Given the description of an element on the screen output the (x, y) to click on. 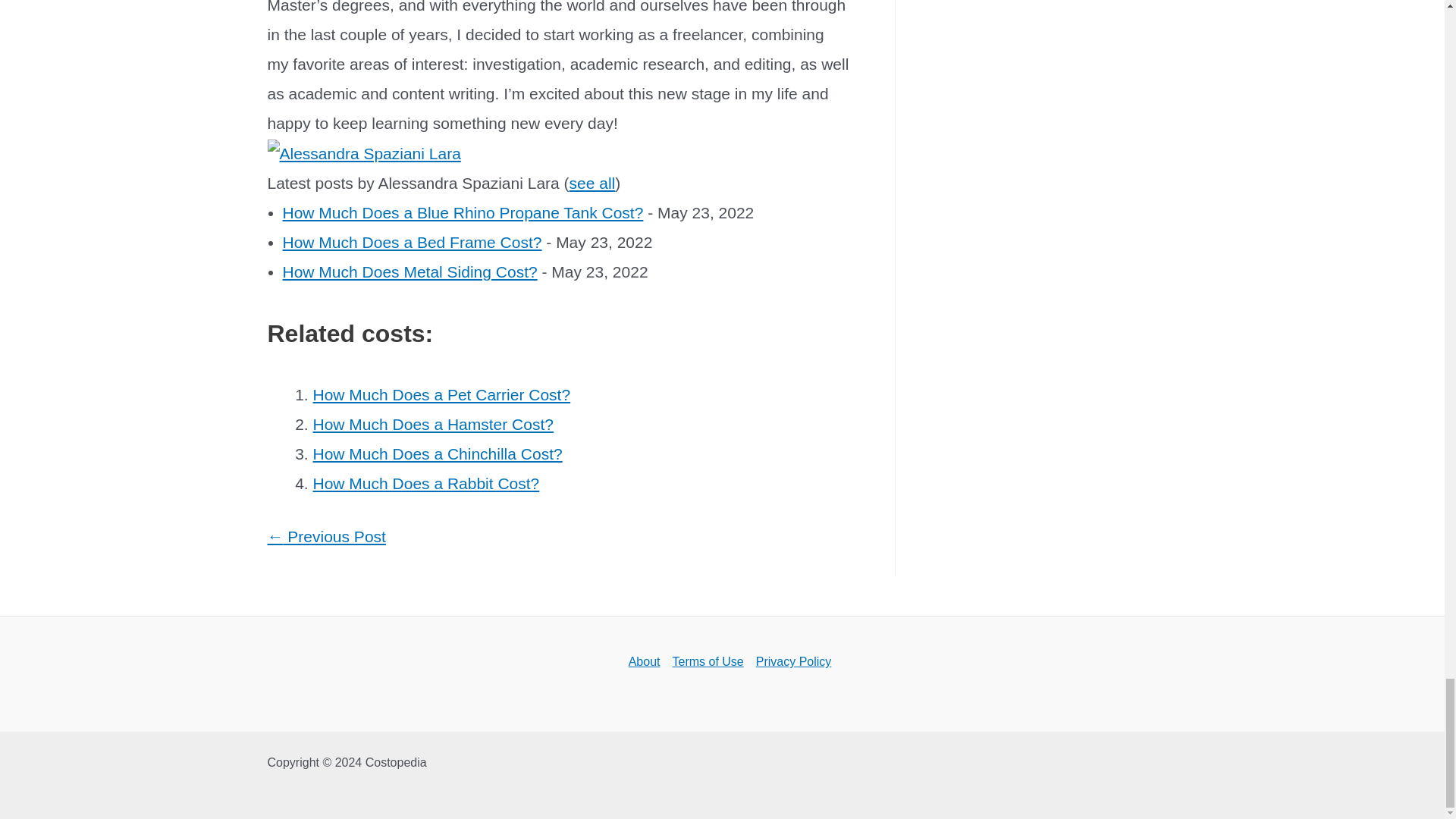
How Much Does a Hamster Cost? (433, 424)
Alessandra Spaziani Lara (363, 152)
How Much Does a Pet Carrier Cost? (441, 394)
How Much Does a Rabbit Cost? (425, 483)
see all (592, 182)
How Much Does a Hamster Cost? (433, 424)
How Much Does a Chinchilla Cost? (437, 453)
How Much Does a Blue Rhino Propane Tank Cost? (462, 212)
How Much Does a Pet Carrier Cost? (441, 394)
How Much Does Metal Siding Cost? (409, 271)
How Much Does a Chinchilla Cost? (437, 453)
How Much Does a Bed Frame Cost? (411, 241)
